Given the description of an element on the screen output the (x, y) to click on. 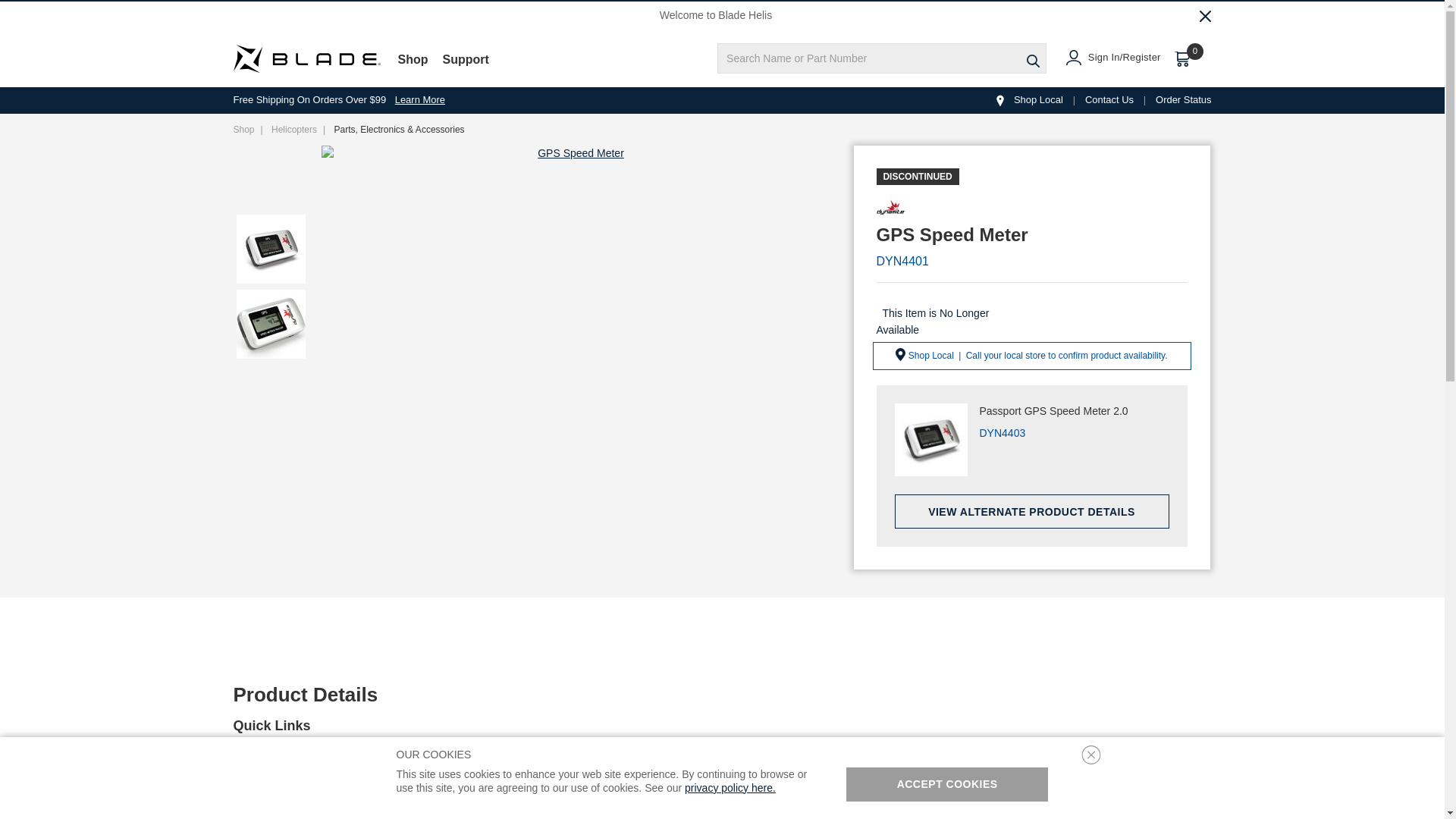
Go to Shop Local (1028, 99)
GPS Speed Meter (269, 248)
Shop Local  (1000, 101)
Blade Home (306, 59)
GPS Speed Meter (269, 323)
GPS Speed Meter (574, 153)
Shop (419, 68)
Passport GPS Speed Meter 2.0 (931, 439)
